Given the description of an element on the screen output the (x, y) to click on. 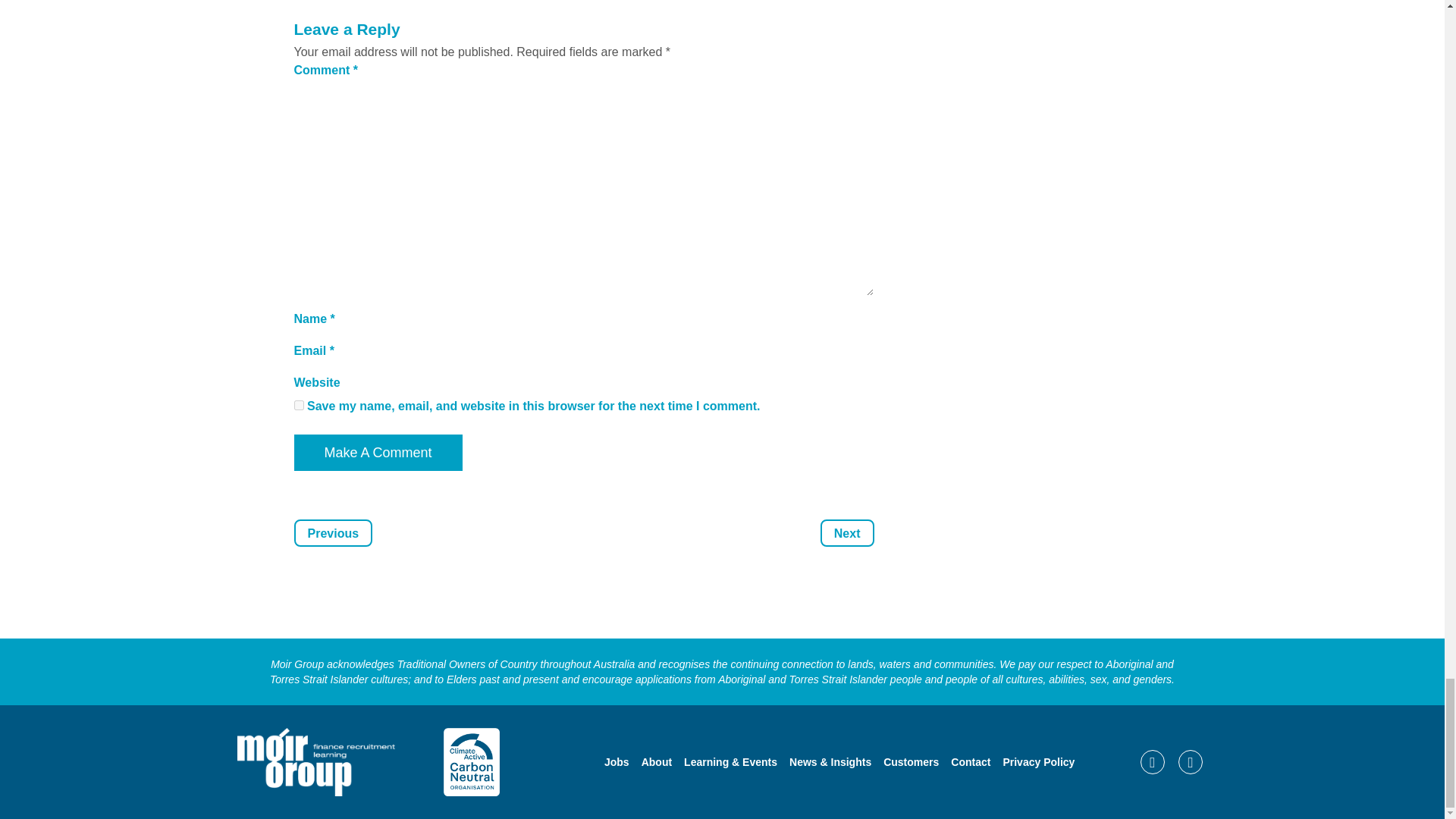
Make a Comment (378, 452)
yes (299, 405)
Moir Group (314, 762)
